Given the description of an element on the screen output the (x, y) to click on. 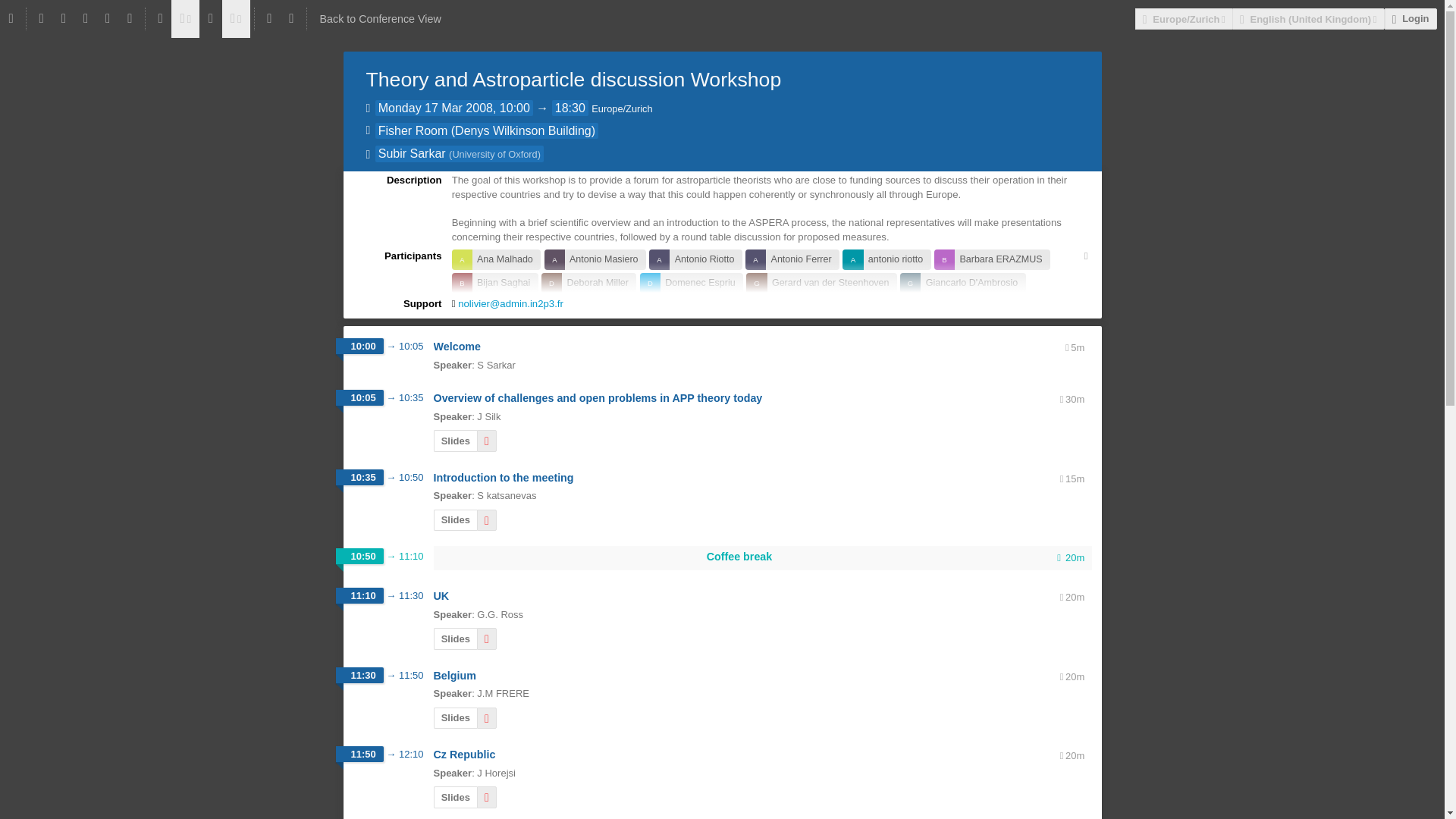
Back to Conference View (380, 18)
Login (1410, 19)
Silk.pdf (486, 440)
